Given the description of an element on the screen output the (x, y) to click on. 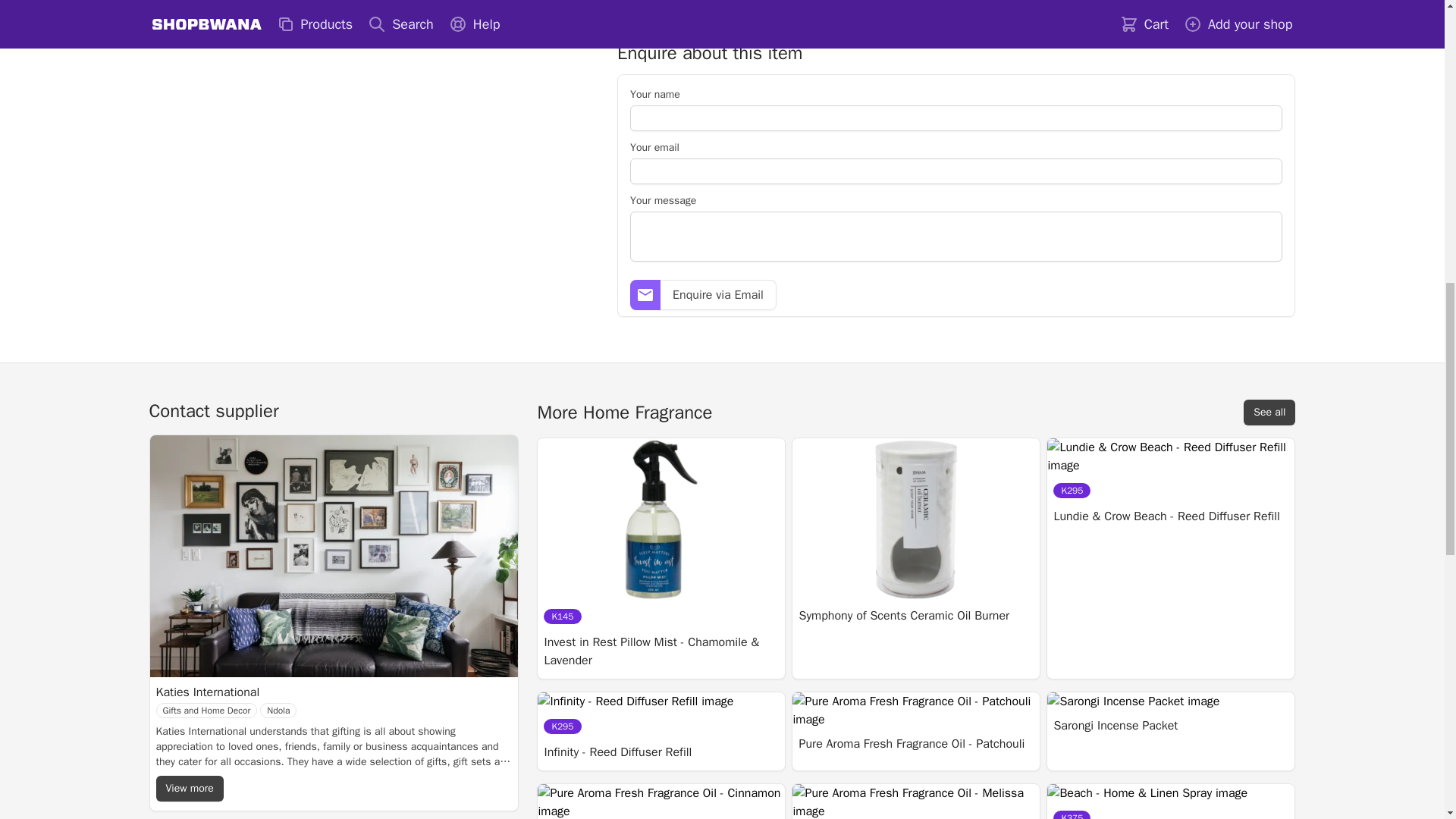
Katies International (227, 692)
Contact supplier (213, 410)
Pure Aroma  Fresh Fragrance Oil  - Patchouli (911, 743)
More Home Fragrance (624, 412)
Sarongi Incense Packet (1114, 725)
Symphony of Scents  Ceramic Oil Burner (903, 615)
Your message (662, 200)
Your name (654, 94)
Your email (654, 147)
Katies International (227, 692)
See all (1269, 412)
View more (189, 788)
Infinity  - Reed Diffuser Refill  (617, 751)
Symphony of Scents Ceramic Oil Burner (903, 615)
